Given the description of an element on the screen output the (x, y) to click on. 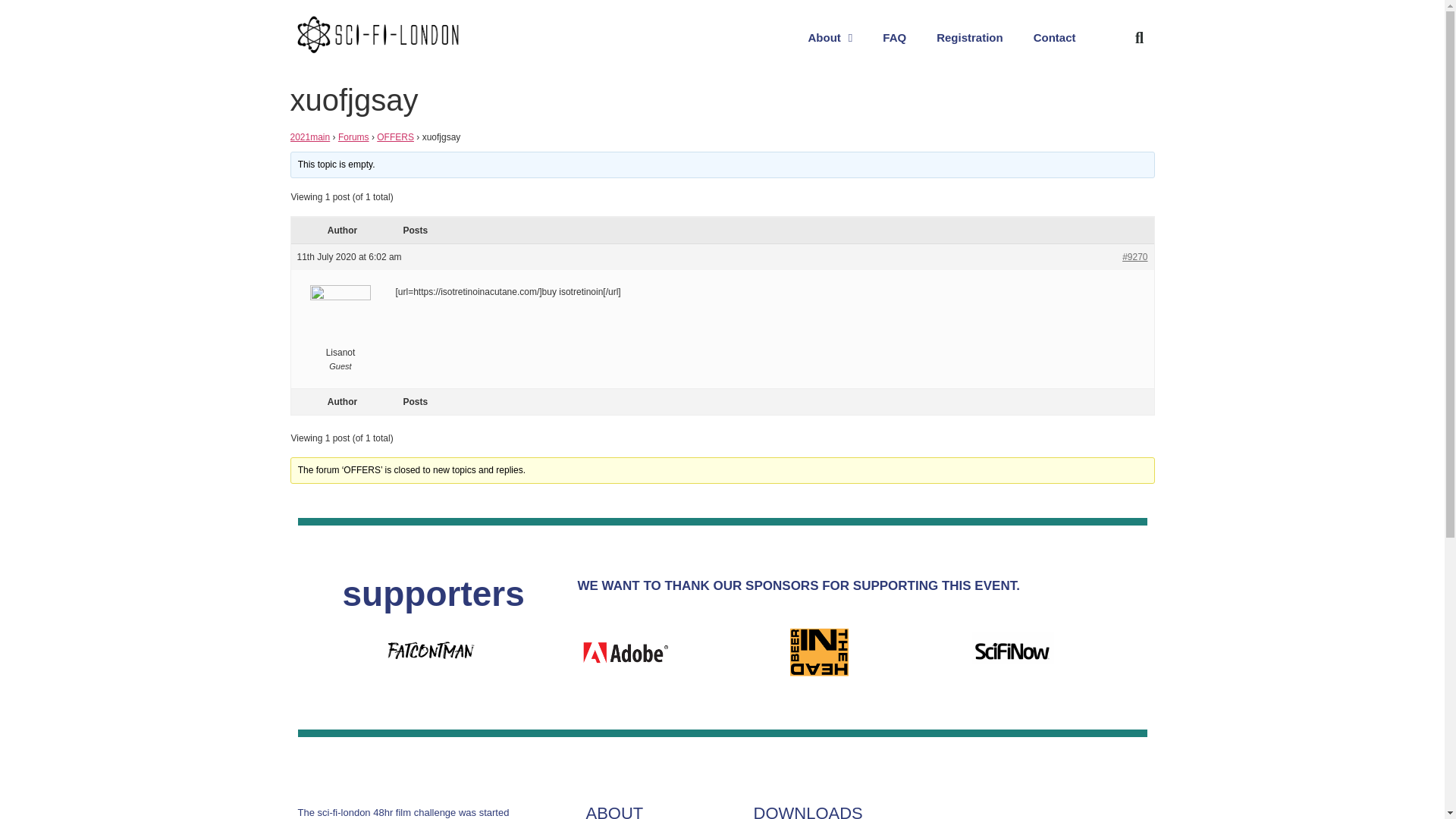
2021main (309, 136)
Contact (1053, 38)
FAQ (894, 38)
Registration (969, 38)
Forums (353, 136)
About (829, 38)
OFFERS (395, 136)
